Given the description of an element on the screen output the (x, y) to click on. 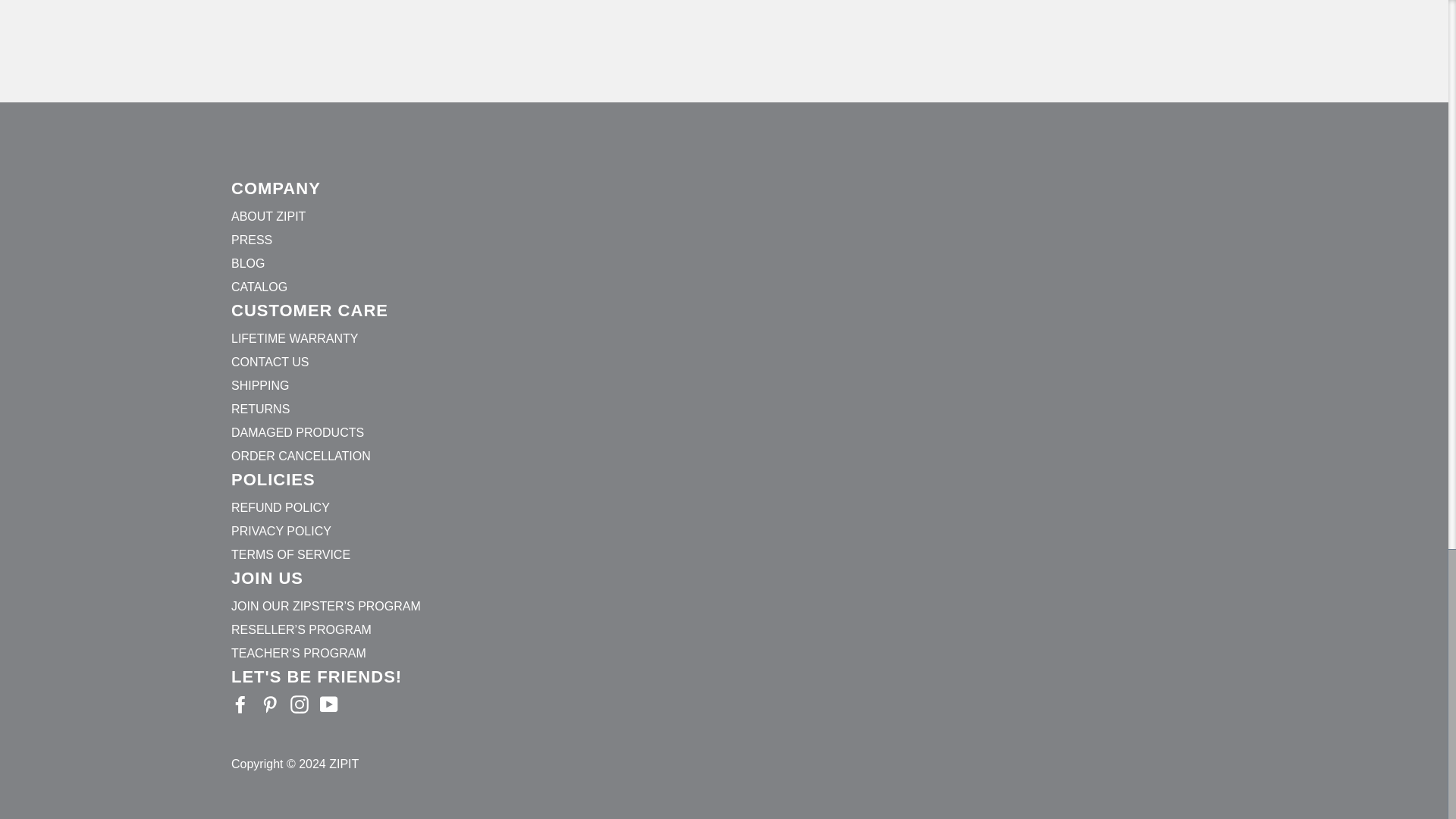
ZIPIT on YouTube (328, 703)
ZIPIT on Instagram (298, 703)
ZIPIT on Pinterest (269, 703)
ZIPIT on Facebook (239, 703)
